Given the description of an element on the screen output the (x, y) to click on. 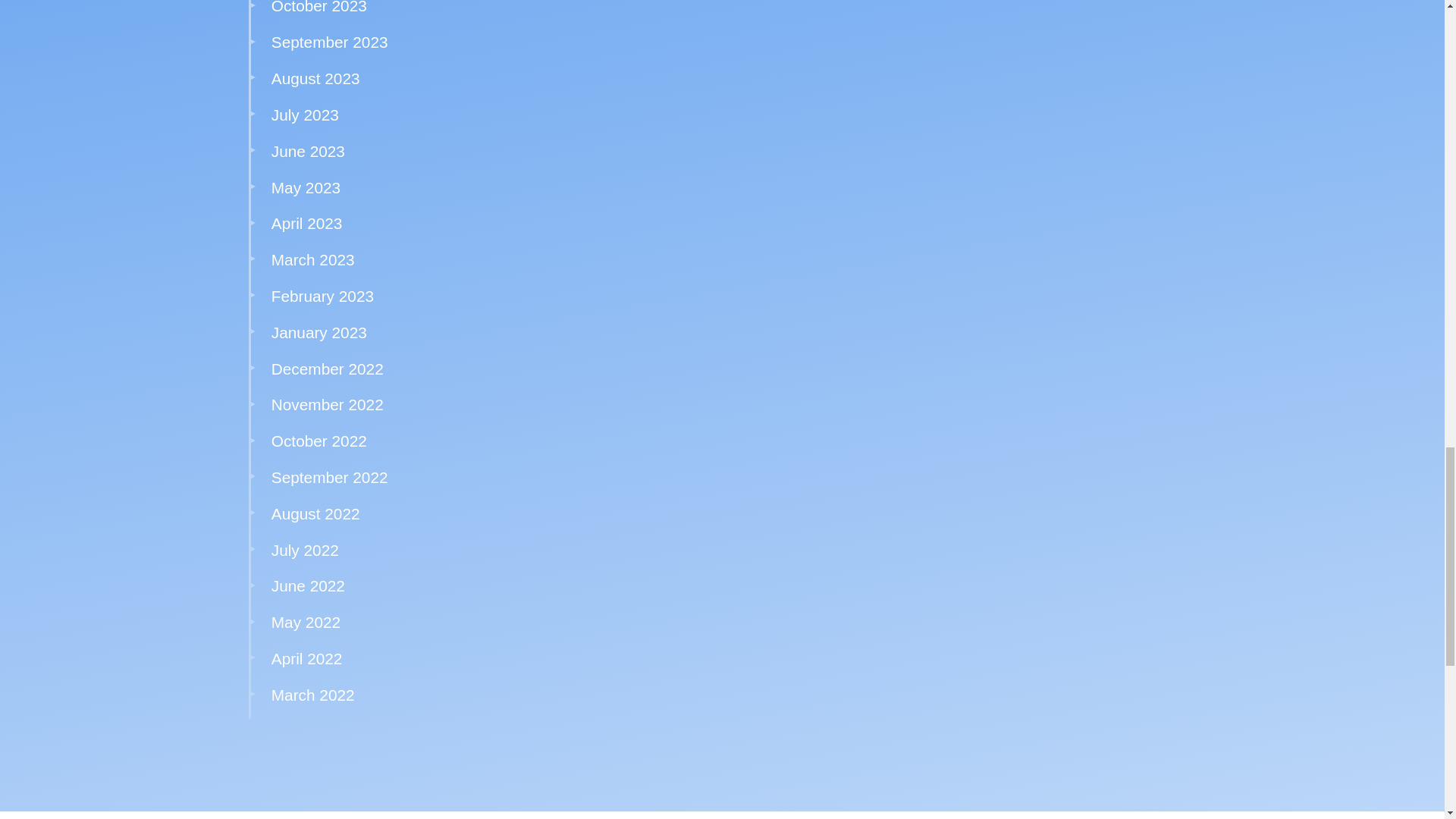
November 2022 (327, 404)
April 2023 (306, 222)
July 2023 (304, 114)
February 2023 (322, 295)
October 2023 (318, 7)
May 2023 (305, 187)
May 2022 (305, 621)
August 2023 (314, 77)
January 2023 (318, 332)
March 2023 (312, 259)
